Given the description of an element on the screen output the (x, y) to click on. 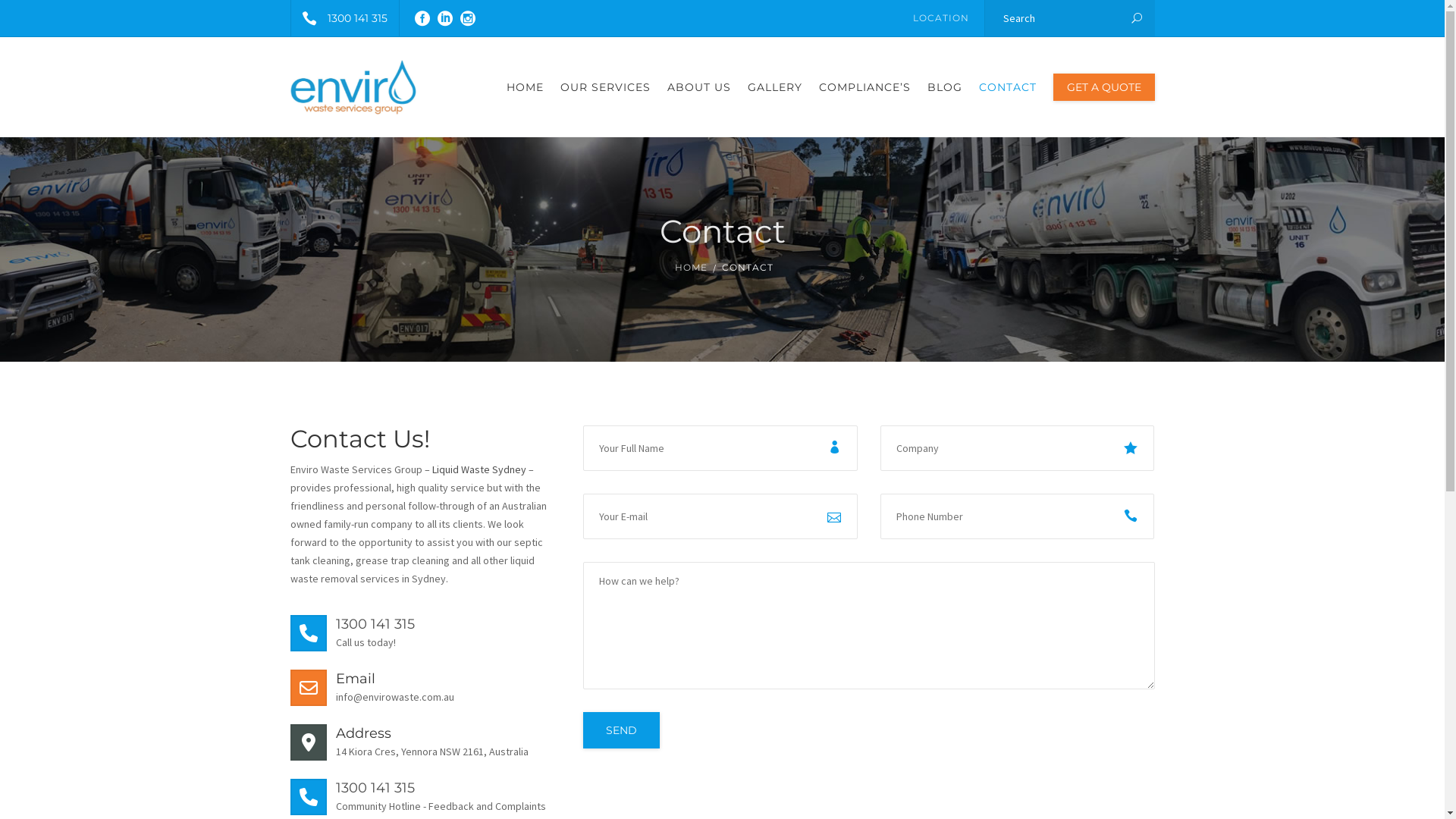
Liquid Waste Sydney Element type: text (479, 469)
1300 141 315 Element type: text (344, 18)
ABOUT US Element type: text (698, 87)
OUR SERVICES Element type: text (605, 87)
BLOG Element type: text (944, 87)
LOCATION Element type: text (944, 17)
HOME Element type: text (690, 267)
HOME Element type: text (524, 87)
Send Element type: text (621, 730)
GET A QUOTE Element type: text (1103, 86)
GALLERY Element type: text (773, 87)
CONTACT Element type: text (1007, 87)
